Given the description of an element on the screen output the (x, y) to click on. 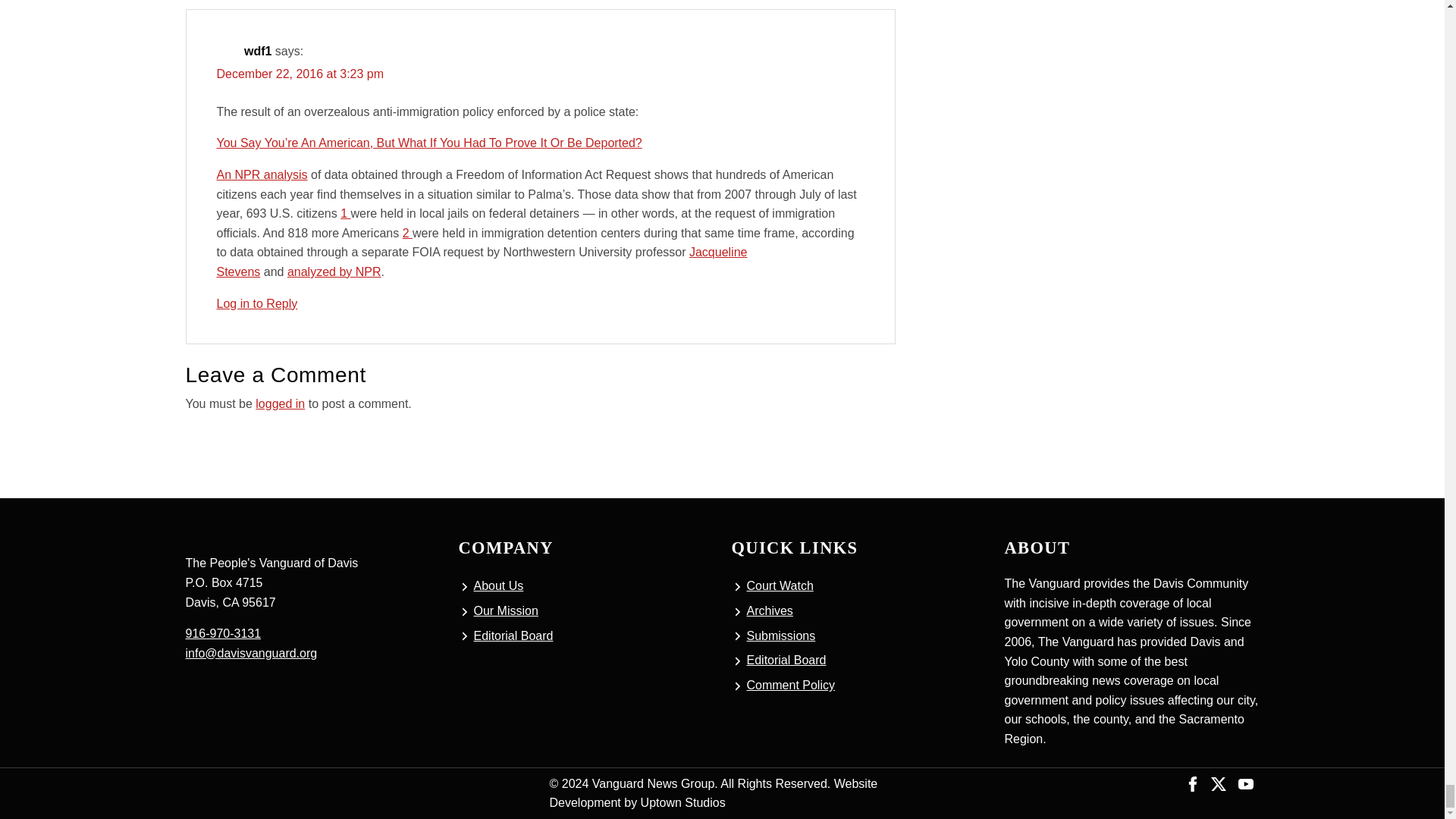
YouTube (1245, 783)
Twitter (1218, 783)
Facebook (1192, 783)
